Given the description of an element on the screen output the (x, y) to click on. 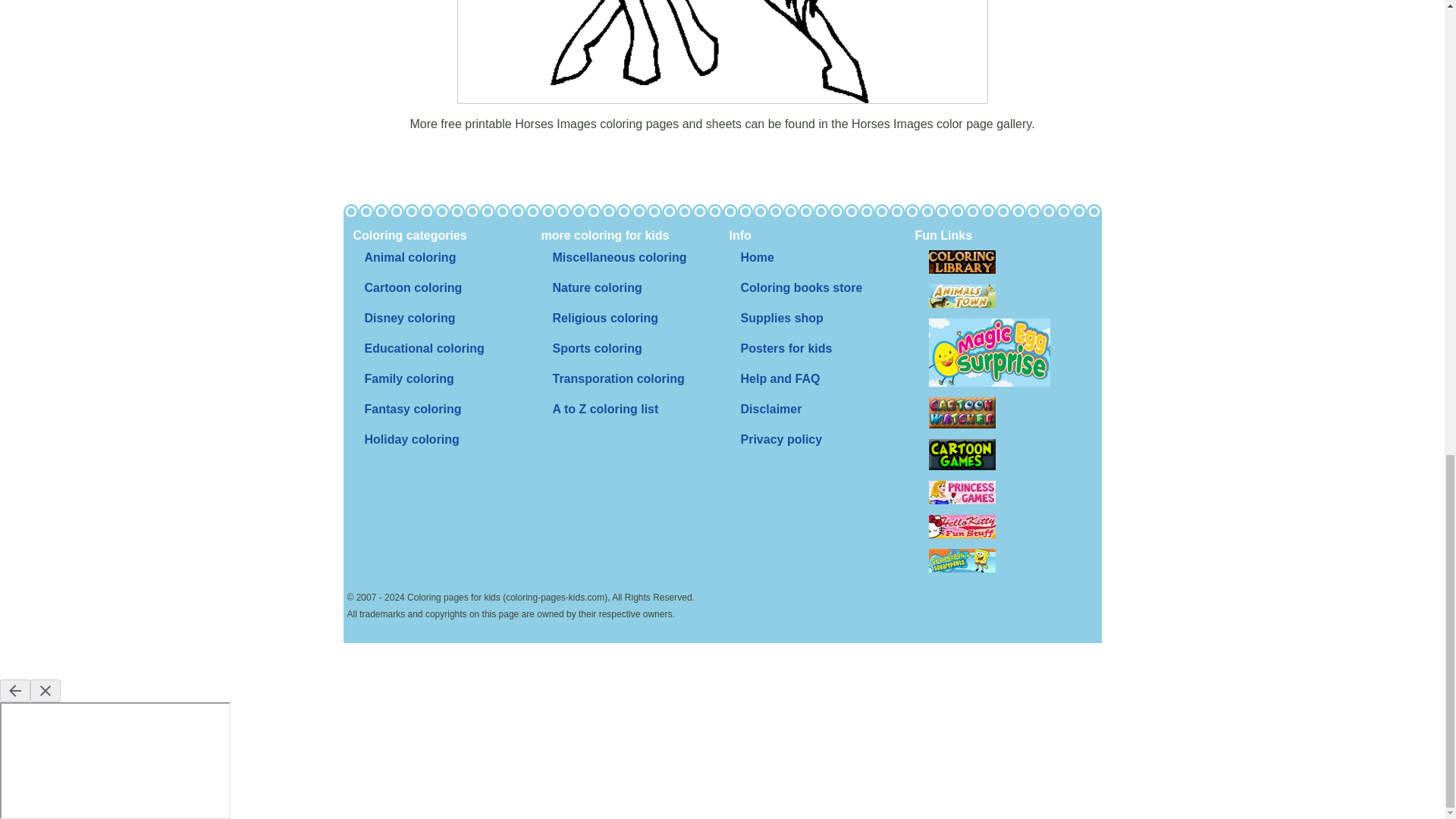
Cartoon coloring (413, 287)
Family coloring (408, 378)
Nature coloring (596, 287)
Help and FAQ (779, 378)
Animal coloring (409, 257)
Fantasy coloring (412, 409)
A to Z coloring list (604, 409)
Coloring books store (801, 287)
Supplies shop (780, 318)
Hello Kitty Fun Stuff Downloads (961, 526)
Posters for kids (785, 348)
Disney coloring (409, 318)
Princess Games (961, 492)
Animals Town. Explore animals by visiting their islands. (961, 295)
Disclaimer (770, 409)
